Given the description of an element on the screen output the (x, y) to click on. 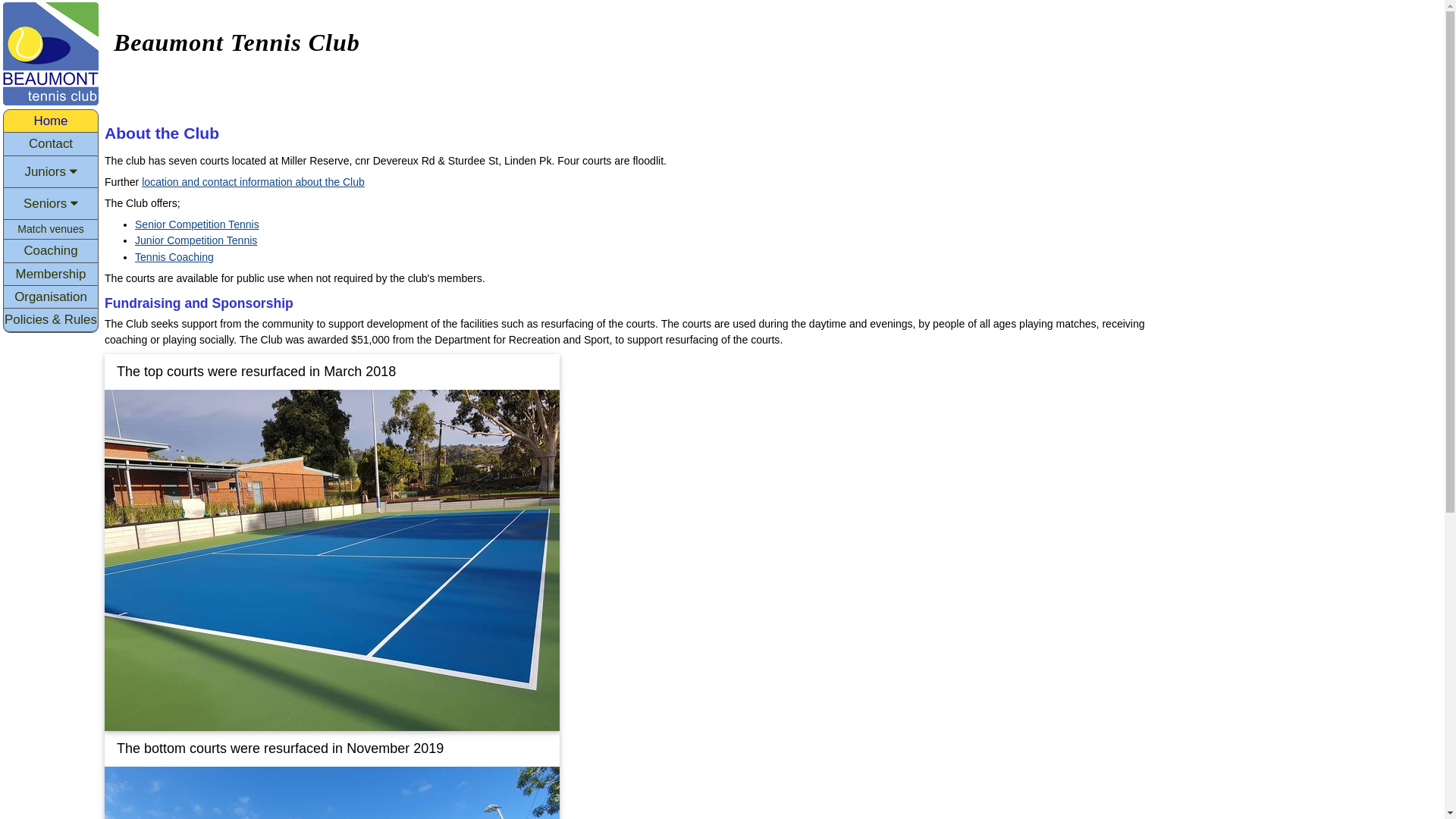
Tennis Coaching Element type: text (173, 257)
Senior Competition Tennis Element type: text (196, 224)
Coaching Element type: text (50, 250)
Junior Competition Tennis Element type: text (195, 240)
Home Element type: text (50, 120)
location and contact information about the Club Element type: text (252, 181)
Contact Element type: text (50, 143)
Membership Element type: text (50, 274)
Match venues Element type: text (50, 228)
Seniors Element type: text (50, 203)
Juniors Element type: text (50, 172)
Policies & Rules Element type: text (50, 319)
Organisation Element type: text (50, 296)
